Given the description of an element on the screen output the (x, y) to click on. 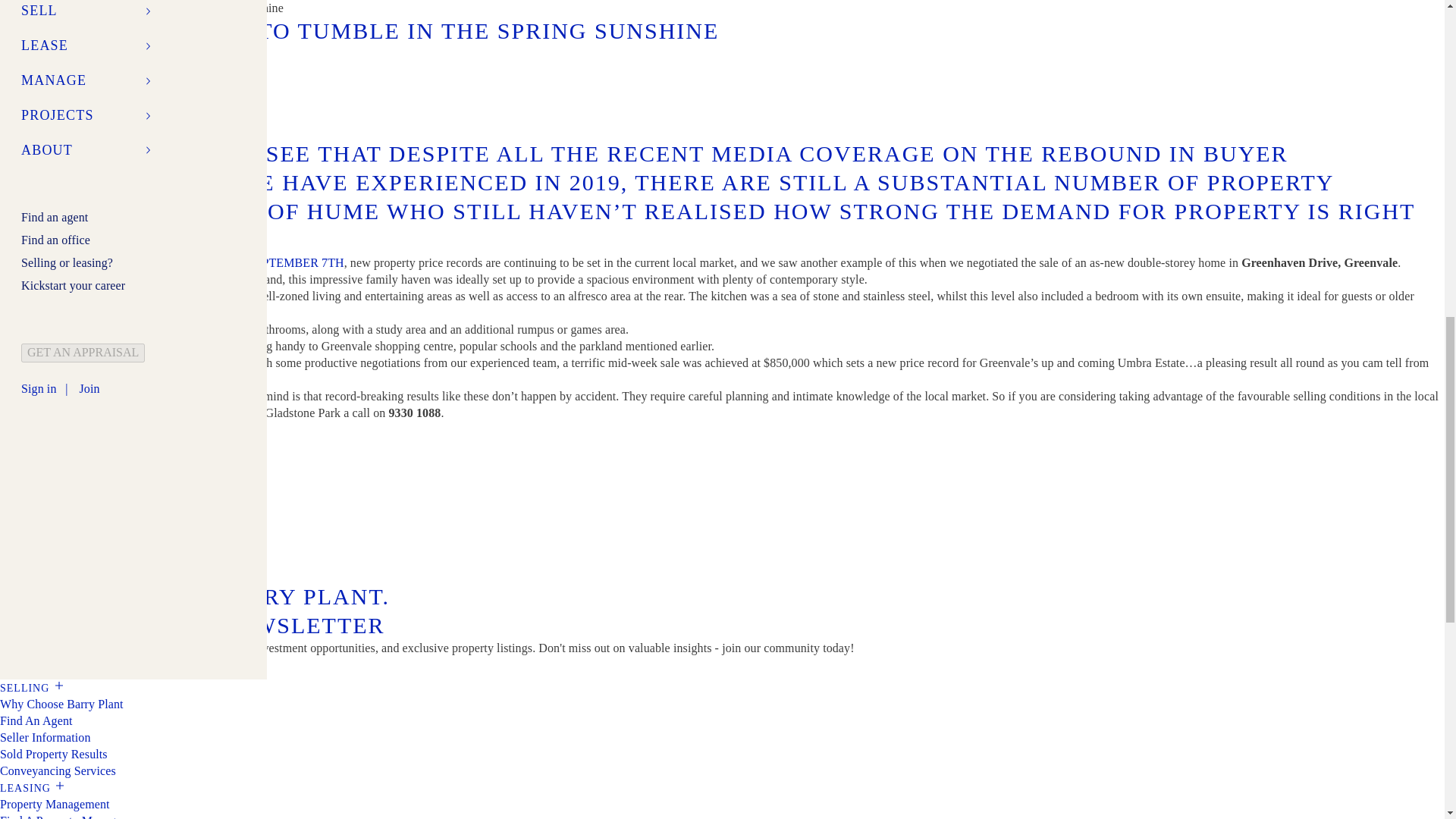
subscribe (36, 667)
OUR UPDATE ON SEPTEMBER 7TH (245, 262)
Seller Information (45, 737)
Find An Agent (36, 720)
Why Choose Barry Plant (61, 703)
News (17, 7)
